Given the description of an element on the screen output the (x, y) to click on. 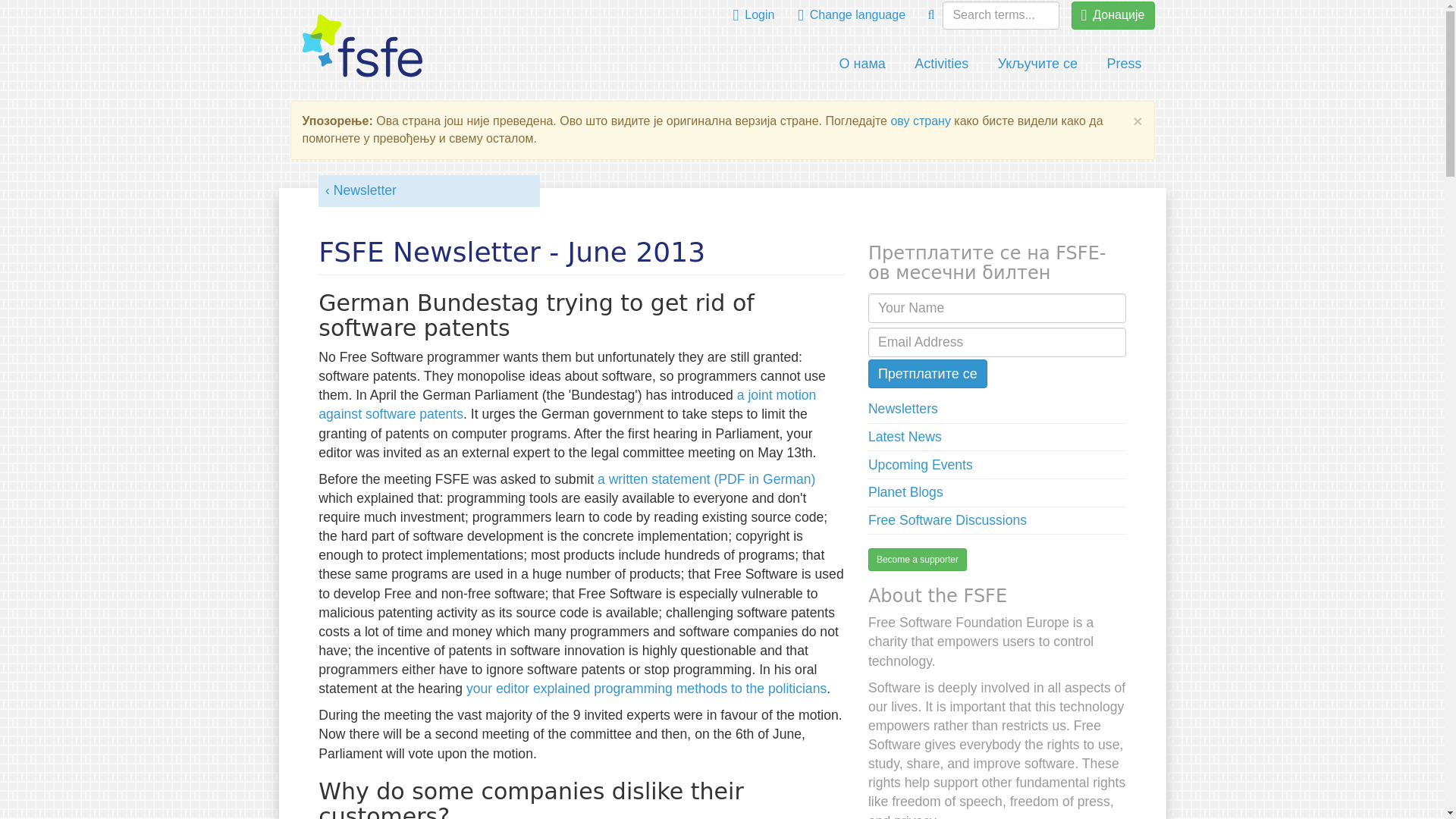
your editor explained programming methods to the politicians (645, 688)
Activities (941, 63)
Newsletter (360, 190)
a joint motion against software patents (566, 404)
Login (753, 15)
Press (1123, 63)
Change language (851, 15)
